Given the description of an element on the screen output the (x, y) to click on. 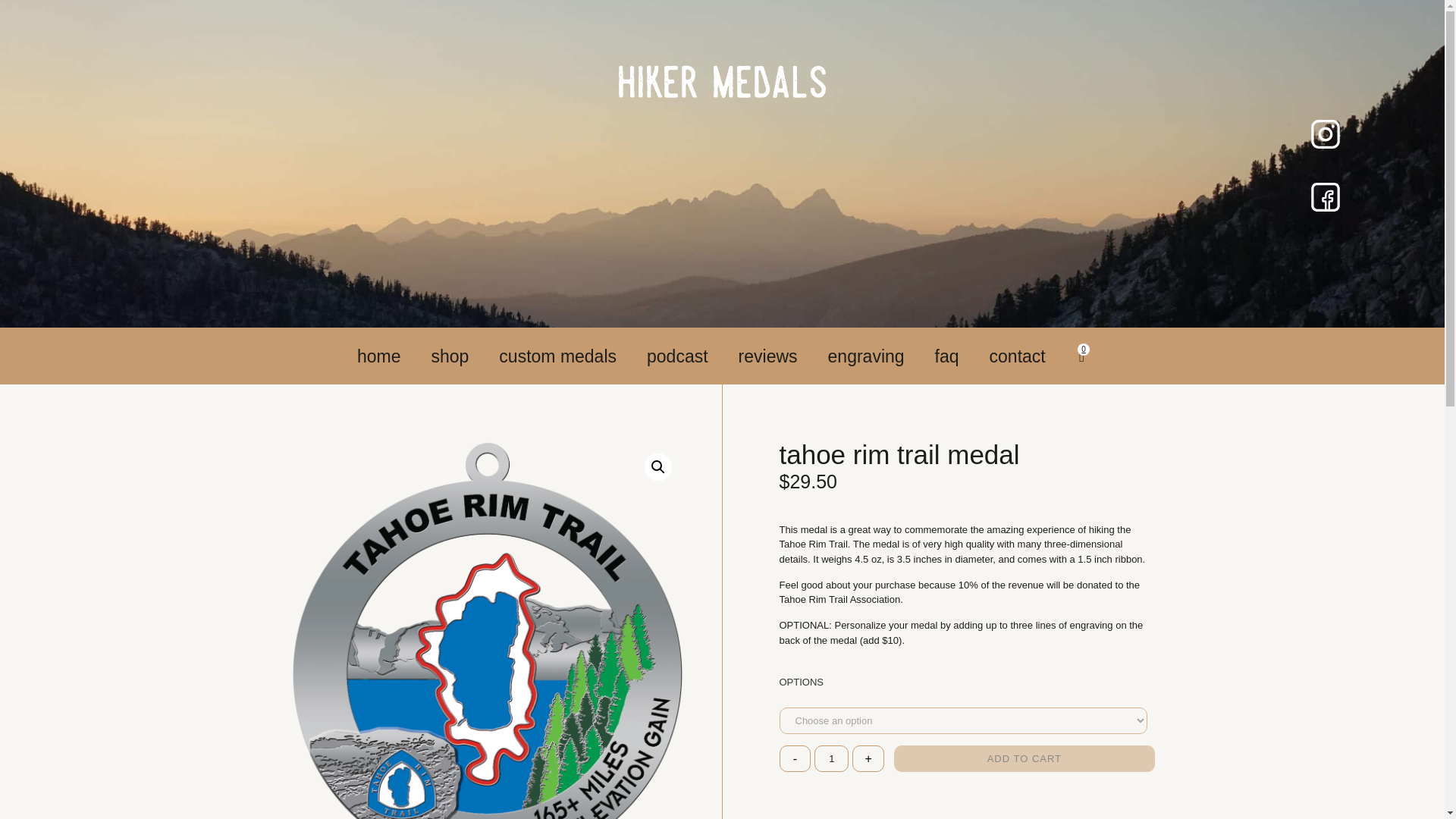
reviews (767, 355)
0 (1081, 356)
podcast (677, 355)
engraving (866, 355)
contact (1017, 355)
ADD TO CART (1023, 758)
home (379, 355)
Qty (830, 758)
1 (830, 758)
